Given the description of an element on the screen output the (x, y) to click on. 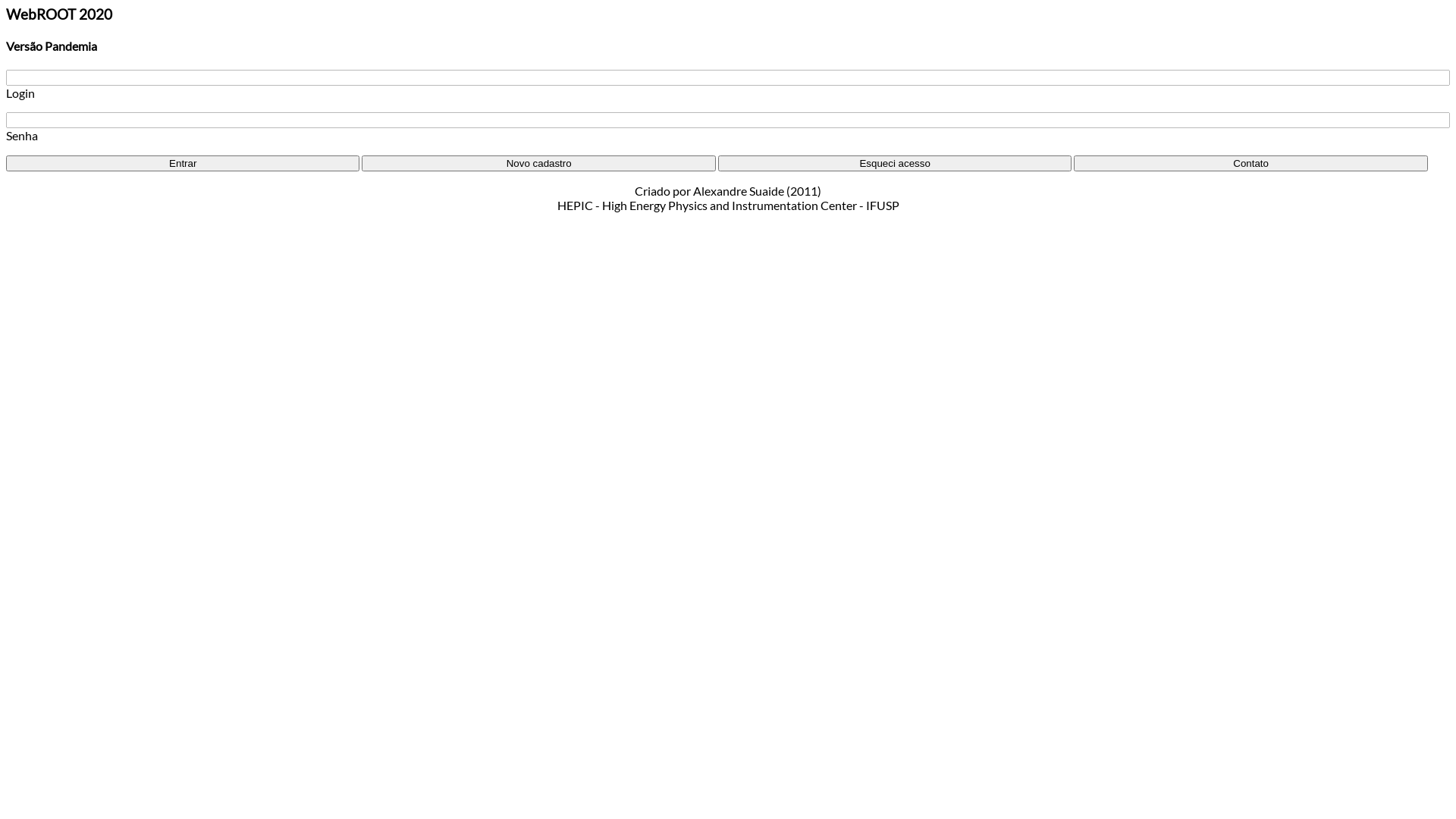
Entrar Element type: text (182, 163)
Novo cadastro Element type: text (538, 163)
Esqueci acesso Element type: text (894, 163)
Contato Element type: text (1250, 163)
